Given the description of an element on the screen output the (x, y) to click on. 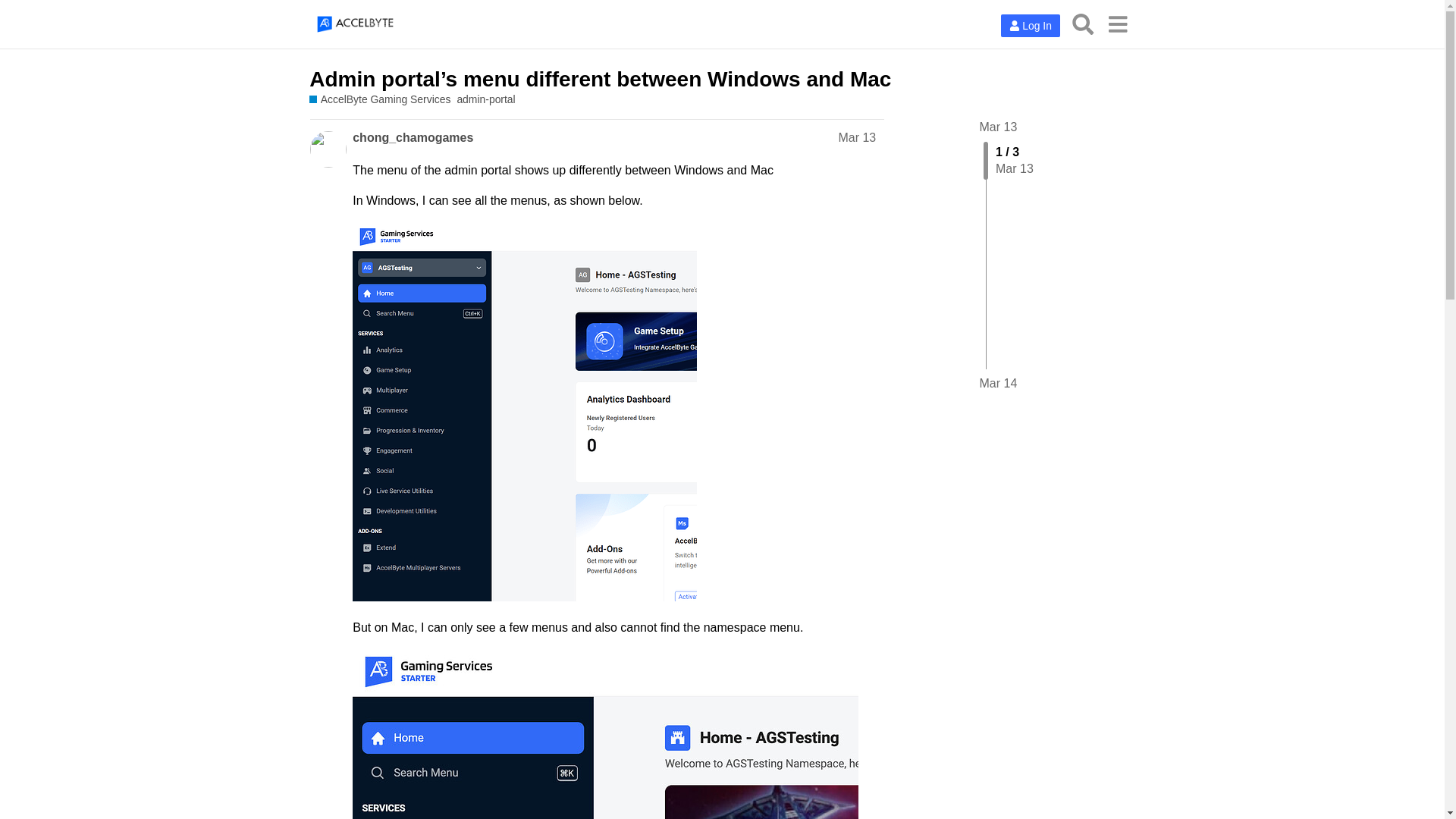
Post date (857, 137)
Mar 14 (998, 383)
Mar 13 (998, 126)
Jump to the first post (998, 126)
admin-portal (486, 99)
menu (1117, 23)
Log In (1030, 25)
Search (1082, 23)
image (524, 411)
